Given the description of an element on the screen output the (x, y) to click on. 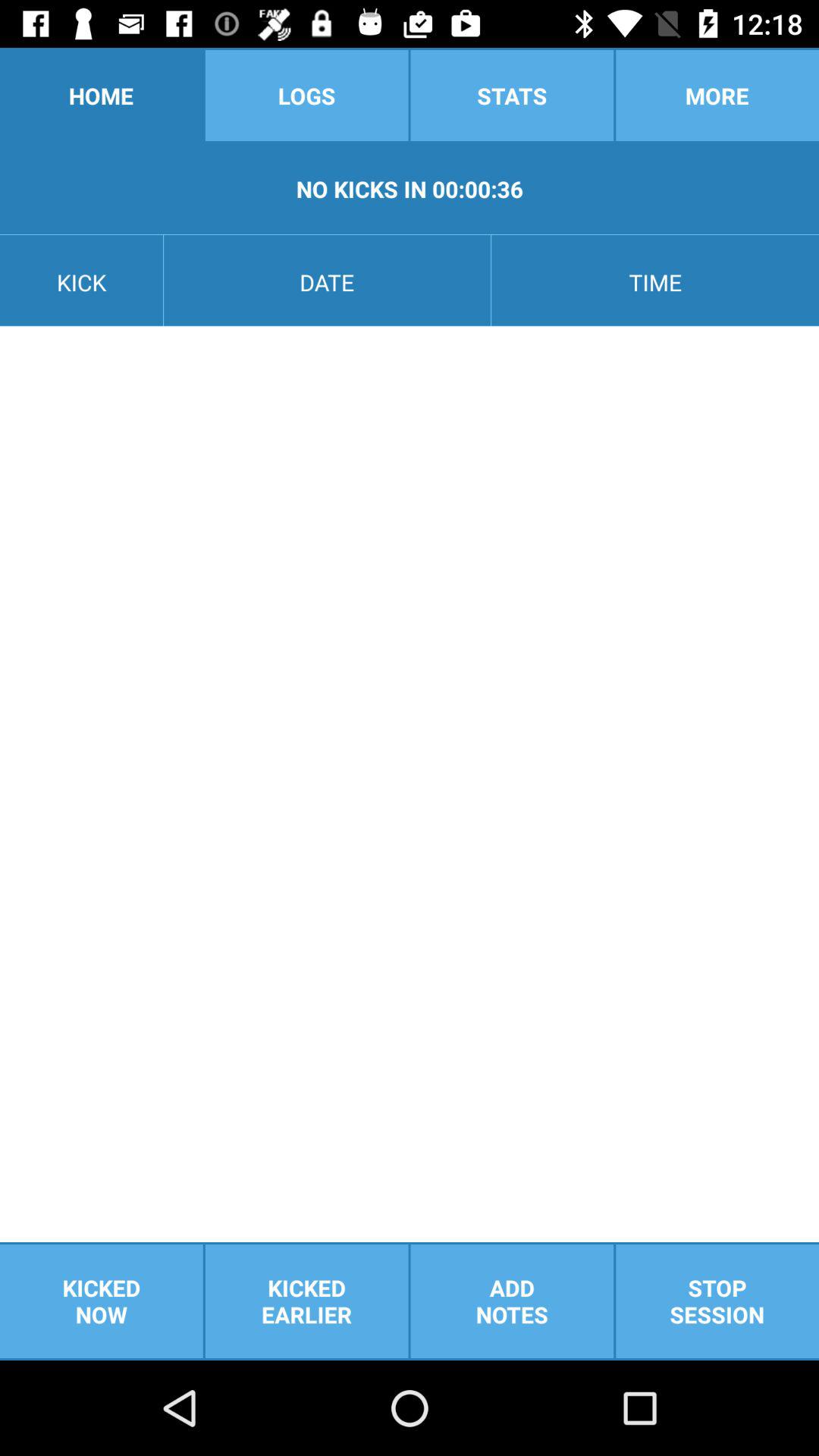
jump to more item (717, 95)
